Given the description of an element on the screen output the (x, y) to click on. 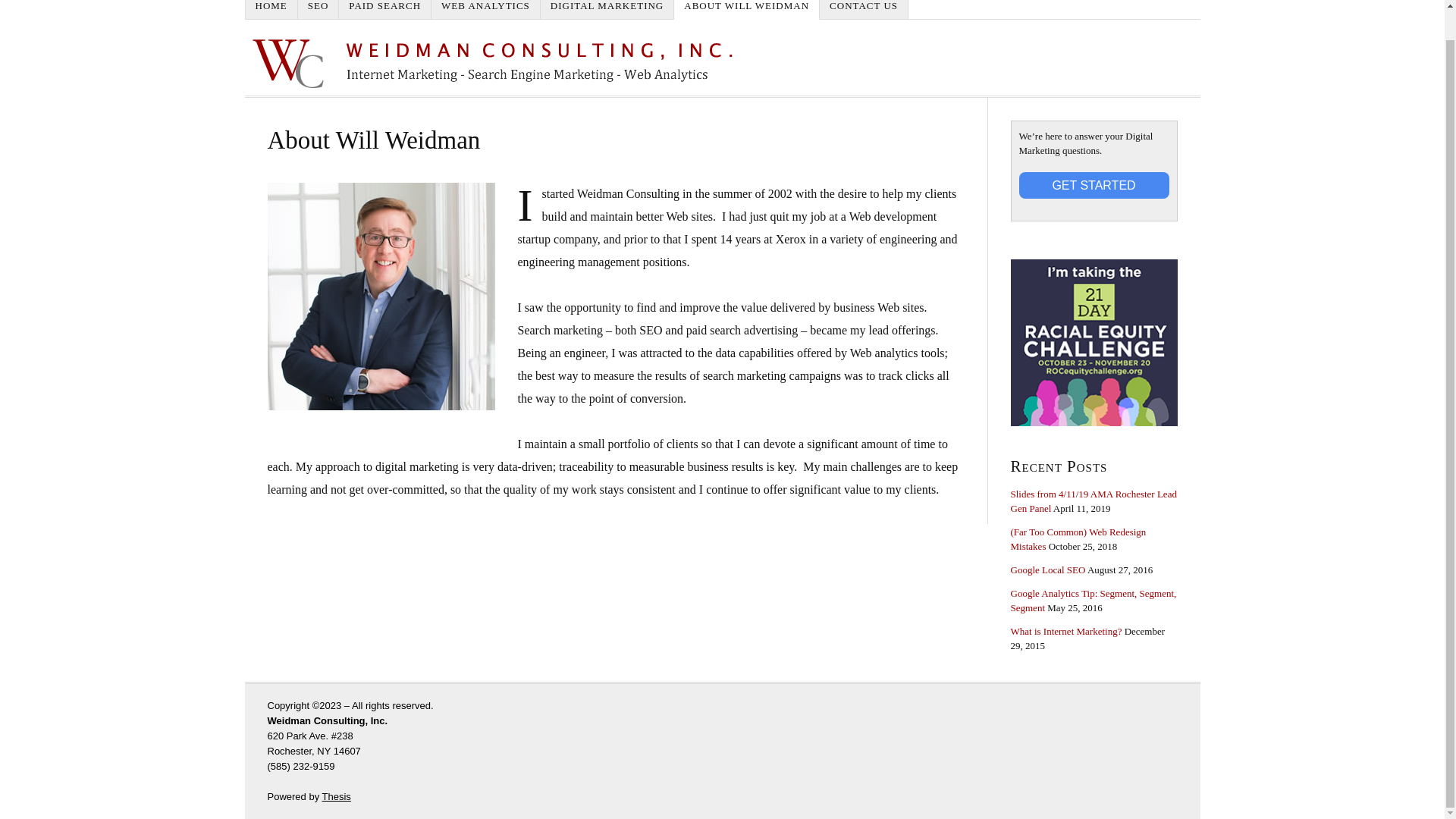
CONTACT US (863, 9)
What is Internet Marketing? (1065, 631)
HOME (272, 9)
WEB ANALYTICS (485, 9)
PAID SEARCH (384, 9)
Google Local SEO (1047, 569)
GET STARTED (1094, 185)
Google Analytics Tip: Segment, Segment, Segment (1093, 600)
SEO (318, 9)
Thesis (335, 796)
